Given the description of an element on the screen output the (x, y) to click on. 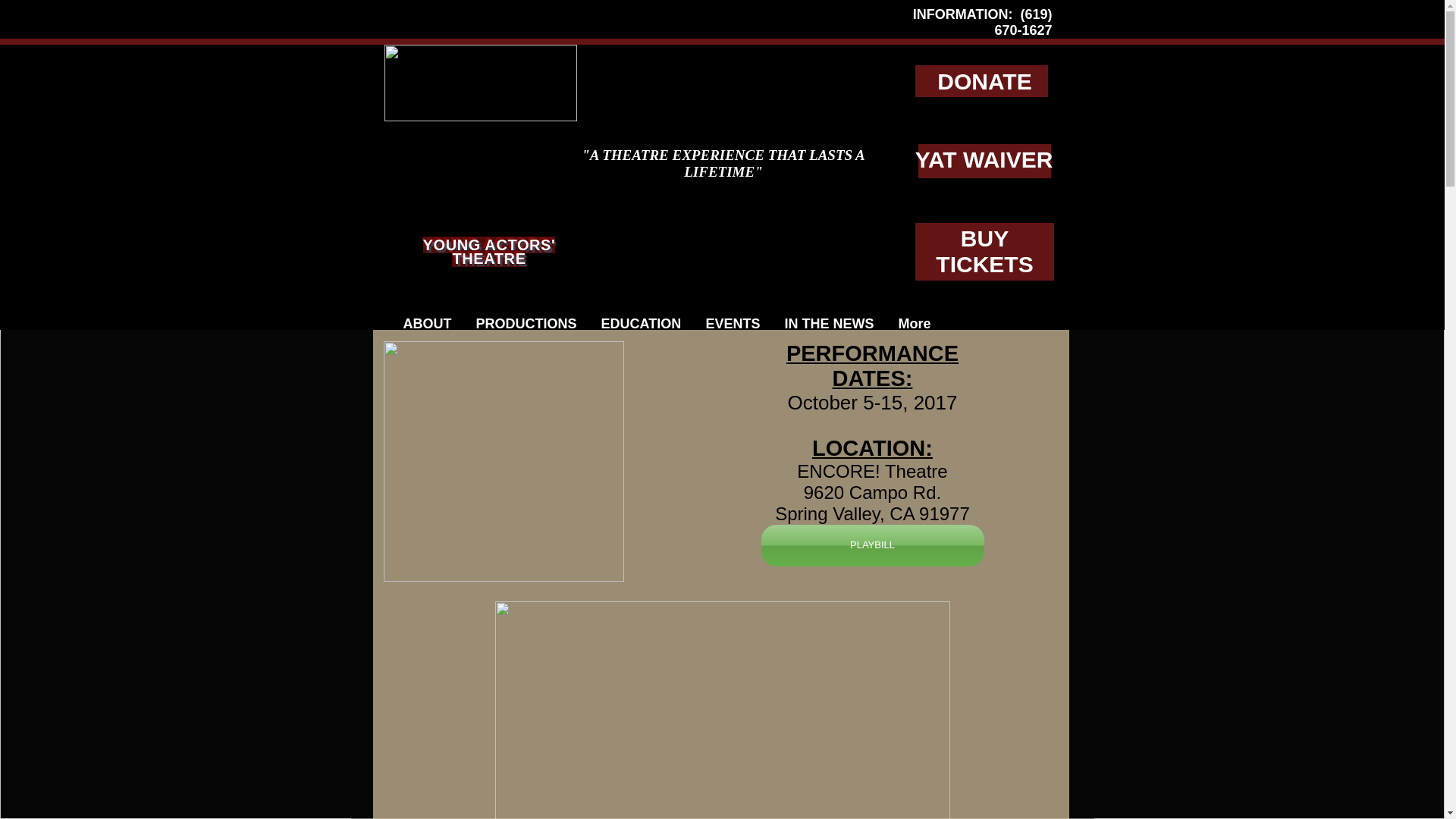
EVENTS (732, 322)
IN THE NEWS (828, 322)
EDUCATION (640, 322)
DONATE (983, 81)
BUY TICKETS (984, 251)
YOUNG ACTORS' THEATRE (489, 251)
YAT logo clear background.png 2015-11-4-21:15:53 (480, 83)
YAT WAIVER (983, 159)
PLAYBILL (872, 545)
ABOUT (427, 322)
PRODUCTIONS (526, 322)
